Given the description of an element on the screen output the (x, y) to click on. 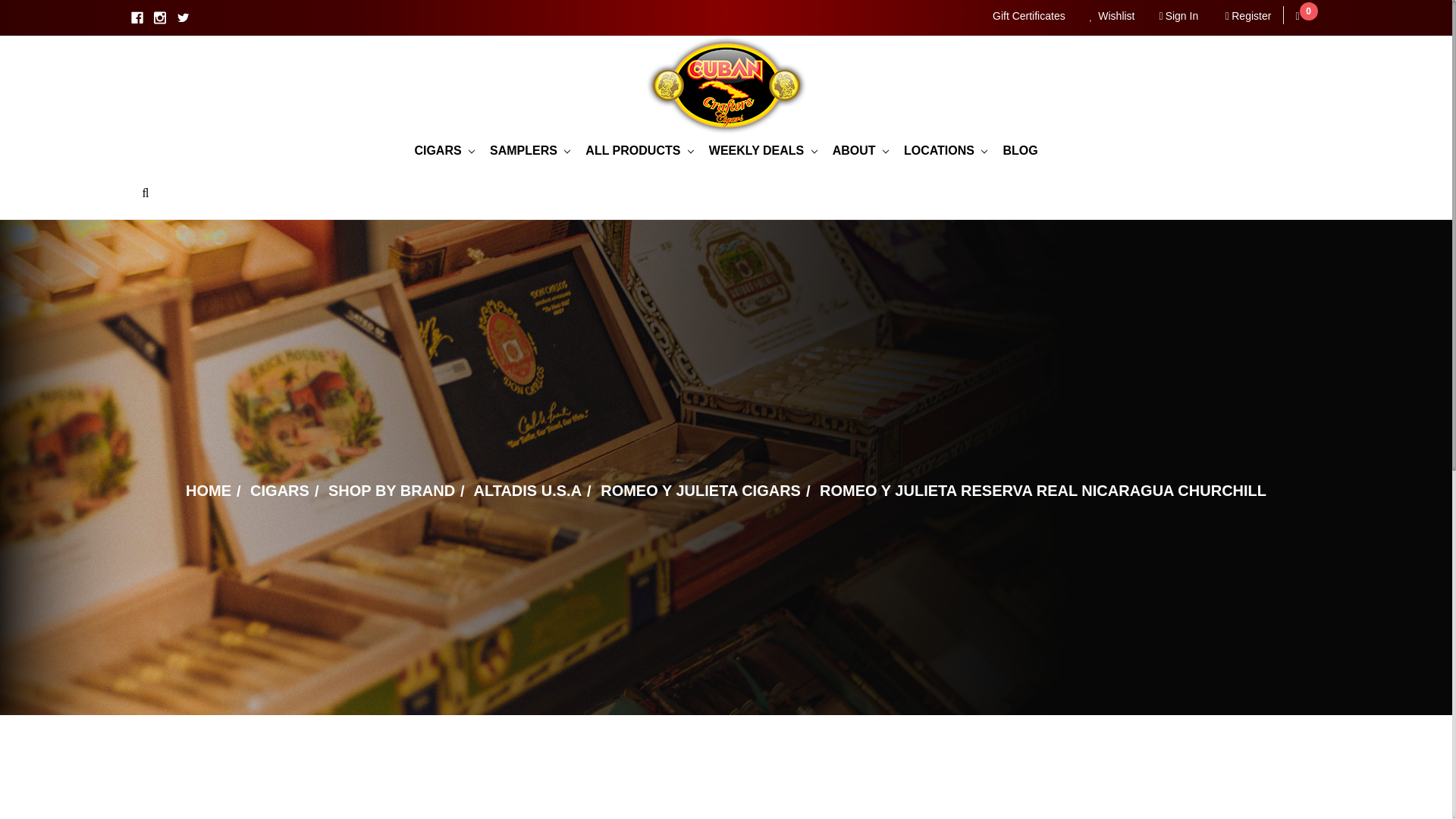
Cuban Crafters Cigars (726, 85)
Register (1247, 16)
CIGARS (443, 150)
Wishlist (1112, 16)
0 (1297, 16)
Gift Certificates (1028, 16)
Wishlist (1112, 16)
Sign In (1178, 16)
